Given the description of an element on the screen output the (x, y) to click on. 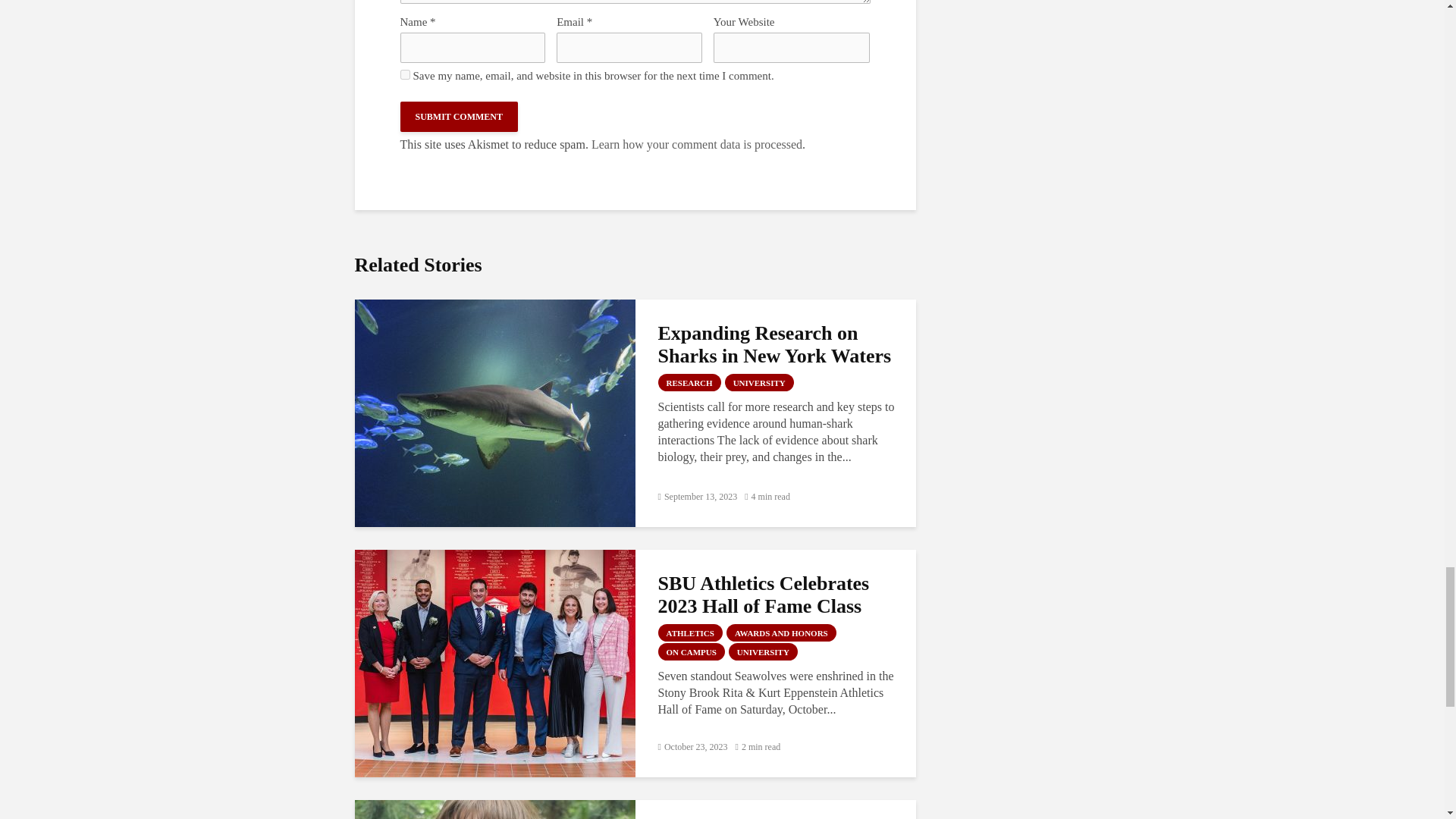
SBU Athletics Celebrates 2023 Hall of Fame Class (494, 662)
Submit Comment (459, 116)
yes (405, 74)
Expanding Research on Sharks in New York Waters (494, 411)
